Given the description of an element on the screen output the (x, y) to click on. 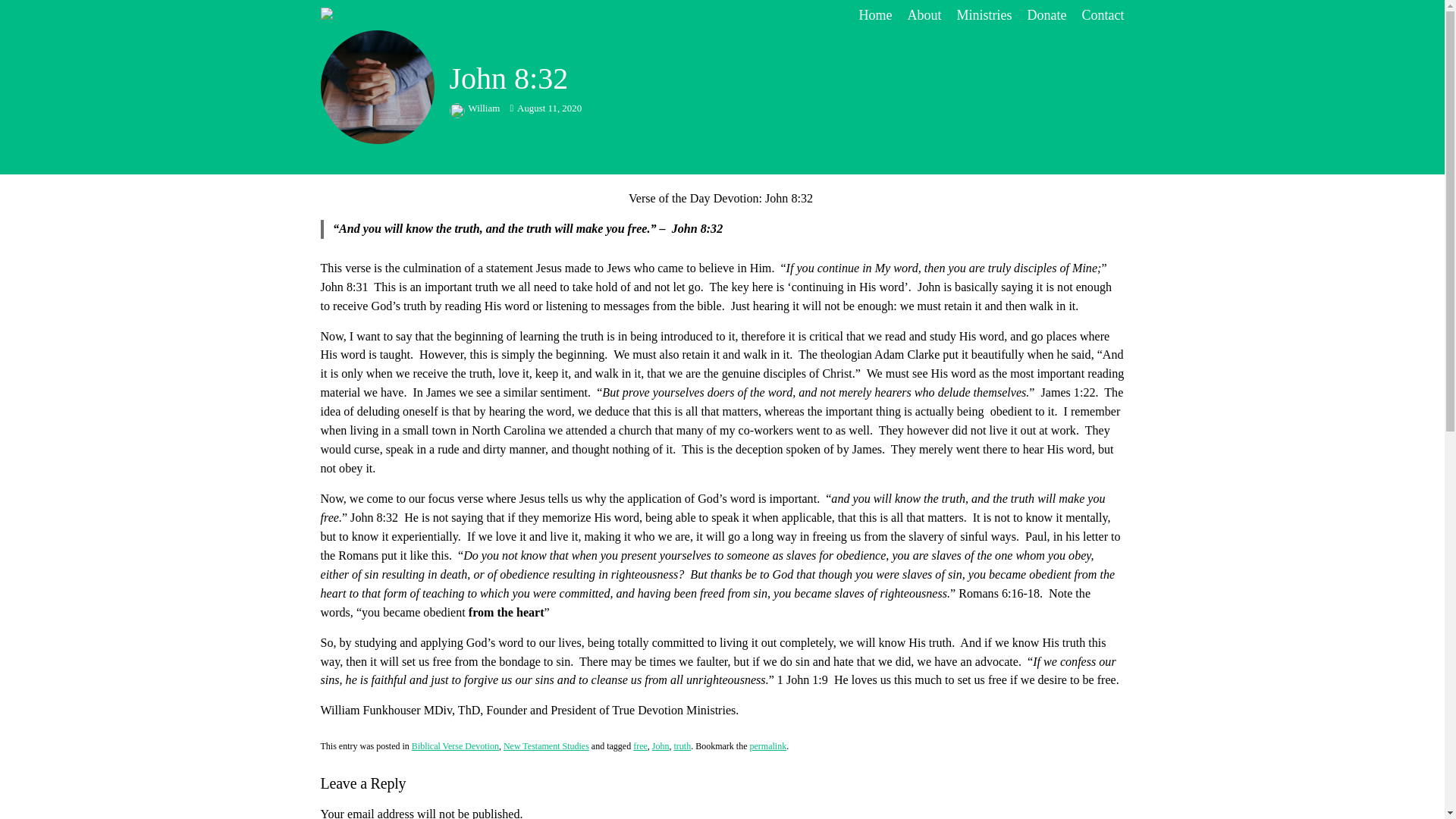
Donate (1047, 15)
truth (681, 746)
About (923, 15)
Permalink to John 8:32 (767, 746)
John (660, 746)
New Testament Studies (546, 746)
William (475, 108)
View all posts by William (475, 108)
August 11, 2020 (544, 108)
True Devotion Ministries! (423, 15)
Biblical Verse Devotion (455, 746)
Ministries (983, 15)
Contact (1102, 15)
free (640, 746)
permalink (767, 746)
